Given the description of an element on the screen output the (x, y) to click on. 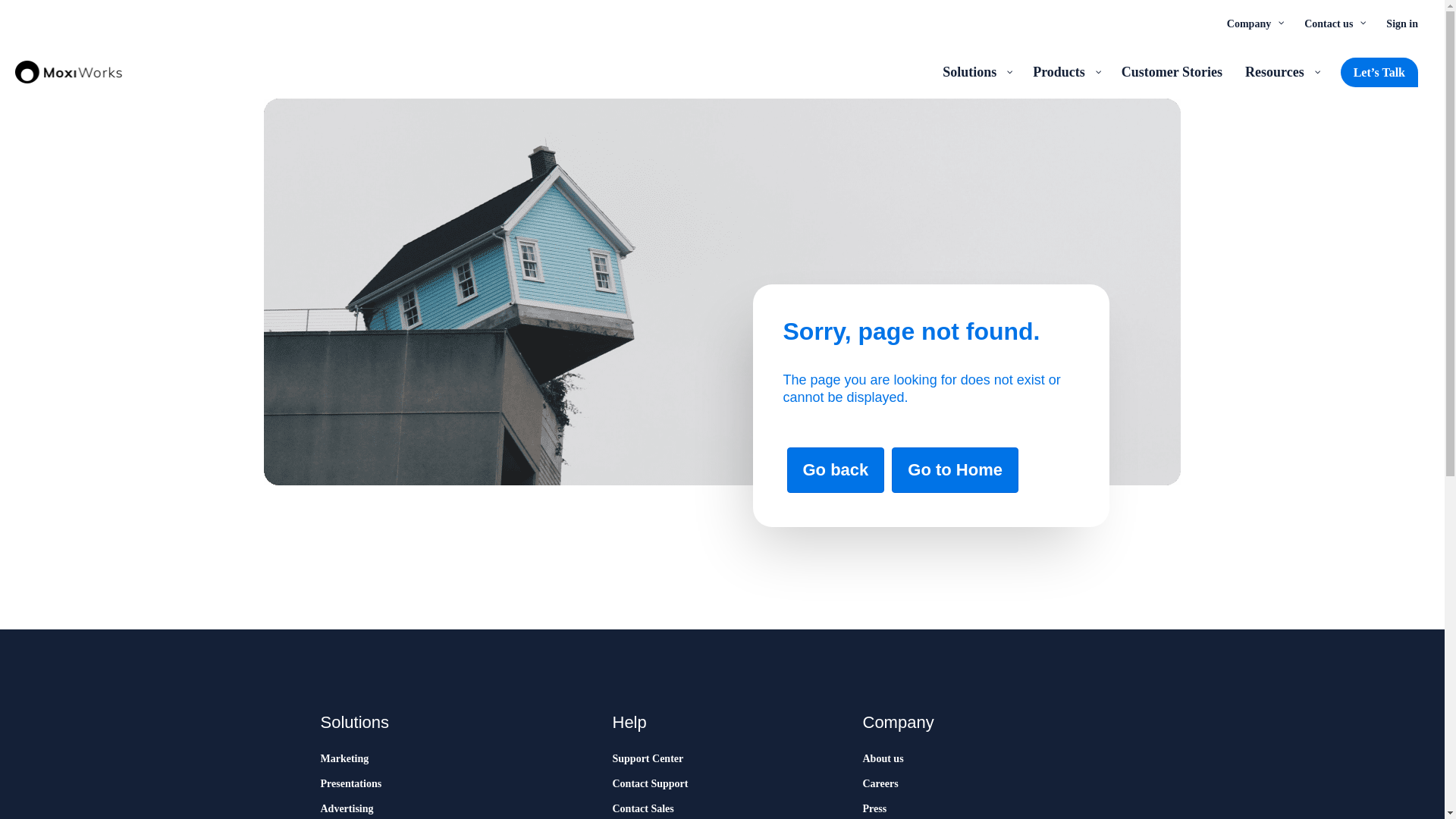
Products (1065, 72)
Sign in (1401, 22)
Company (1253, 22)
Solutions (976, 72)
Contact us (1333, 22)
